Given the description of an element on the screen output the (x, y) to click on. 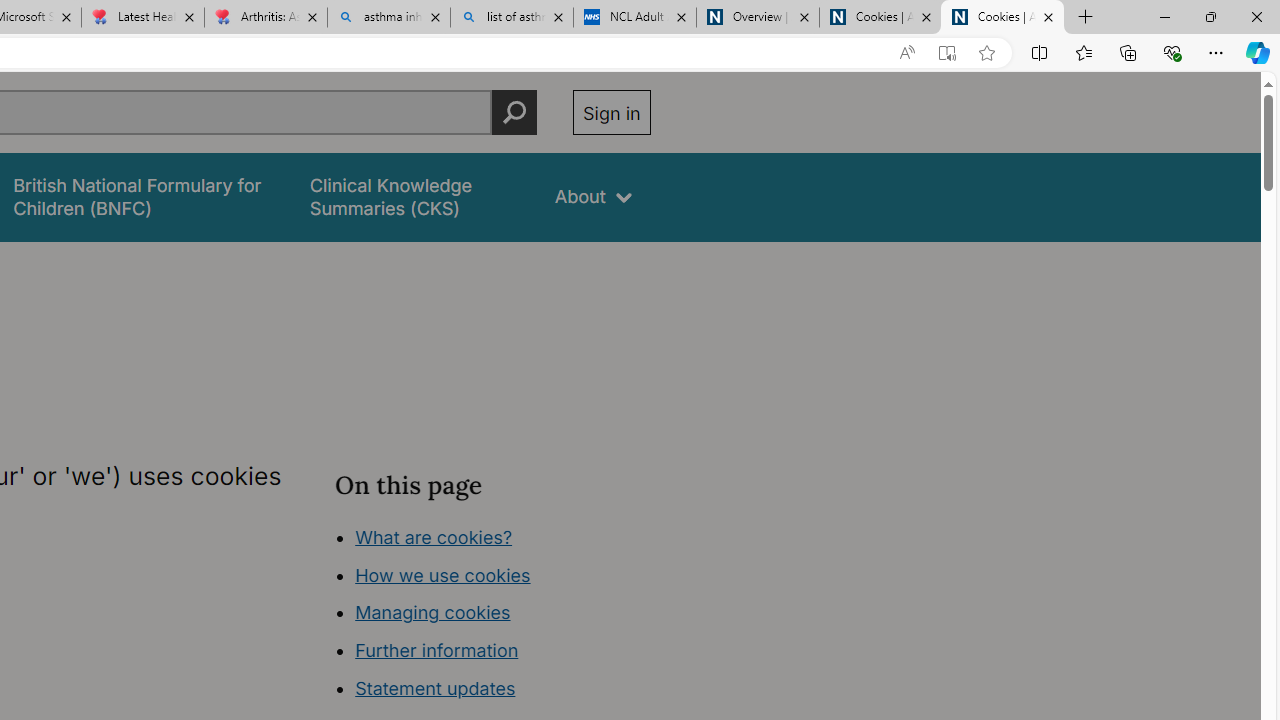
Further information (436, 650)
Class: in-page-nav__list (492, 615)
asthma inhaler - Search (388, 17)
About (593, 196)
NCL Adult Asthma Inhaler Choice Guideline (634, 17)
false (413, 196)
How we use cookies (442, 574)
About (593, 196)
